Given the description of an element on the screen output the (x, y) to click on. 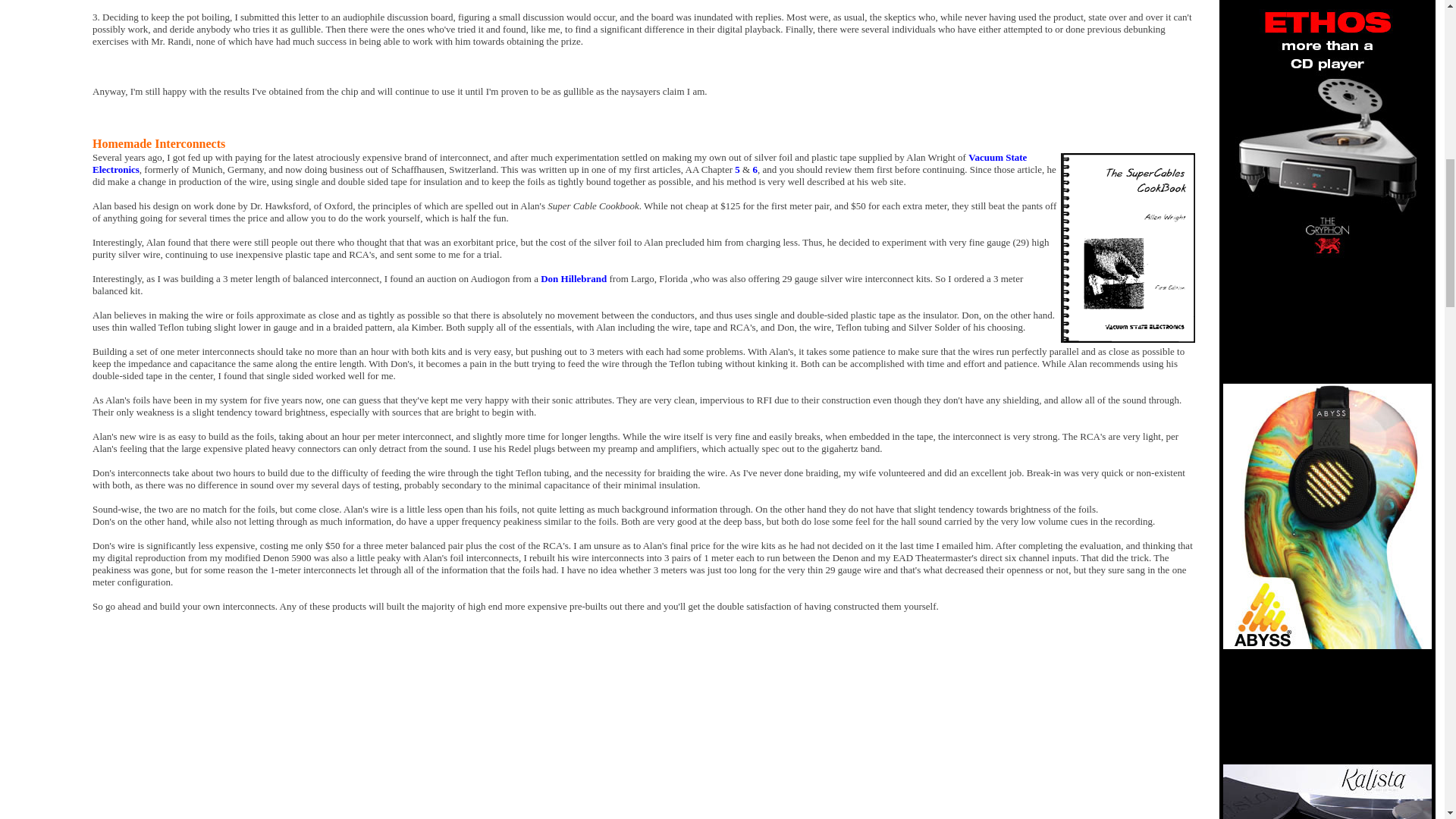
Vacuum State Electronics (559, 163)
Don Hillebrand (573, 278)
